Given the description of an element on the screen output the (x, y) to click on. 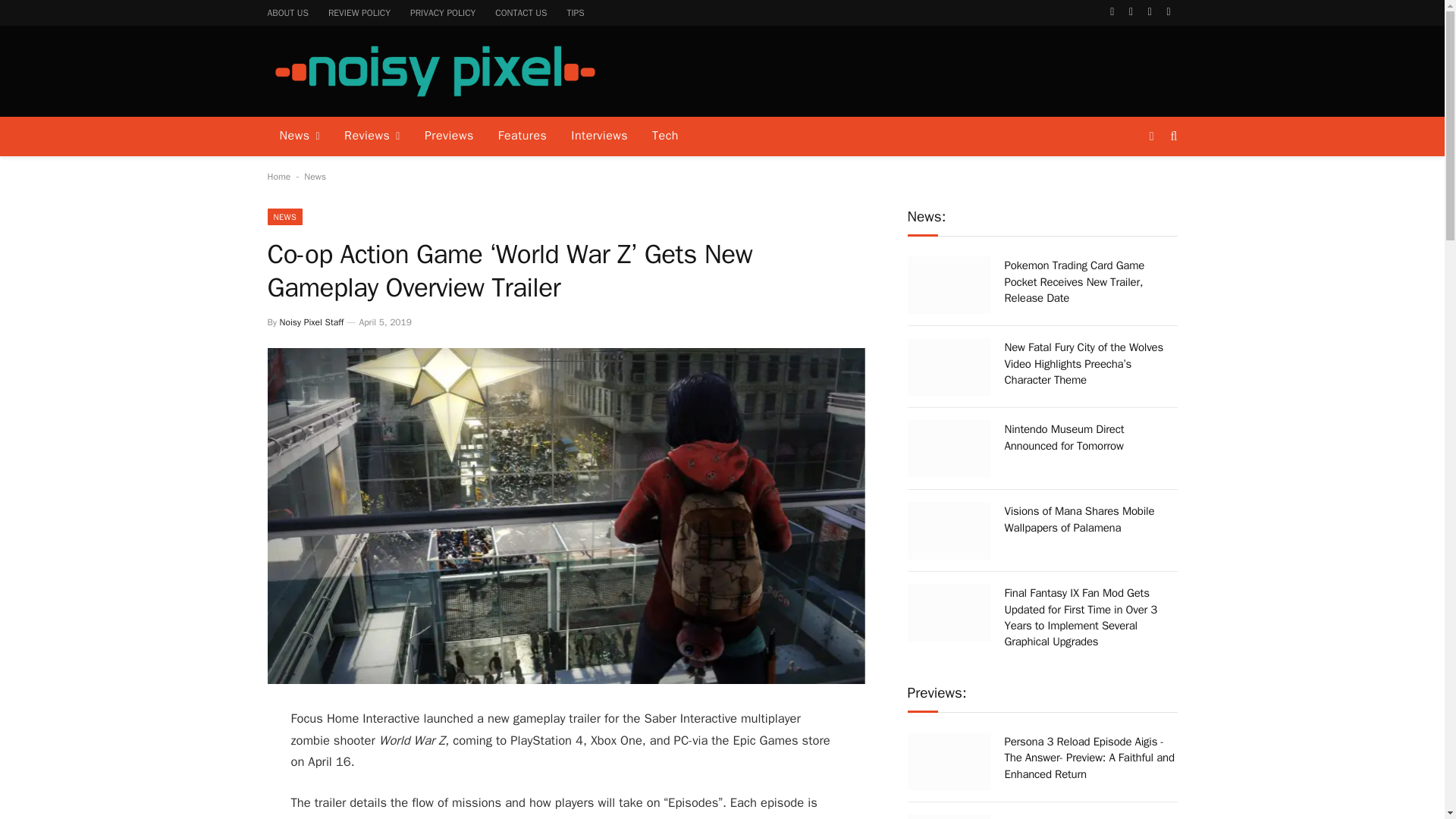
Interviews (599, 136)
CONTACT US (520, 12)
Features (522, 136)
Home (277, 176)
REVIEW POLICY (359, 12)
Posts by Noisy Pixel Staff (311, 322)
Tech (665, 136)
Noisy Pixel (434, 71)
TIPS (575, 12)
ABOUT US (287, 12)
